Given the description of an element on the screen output the (x, y) to click on. 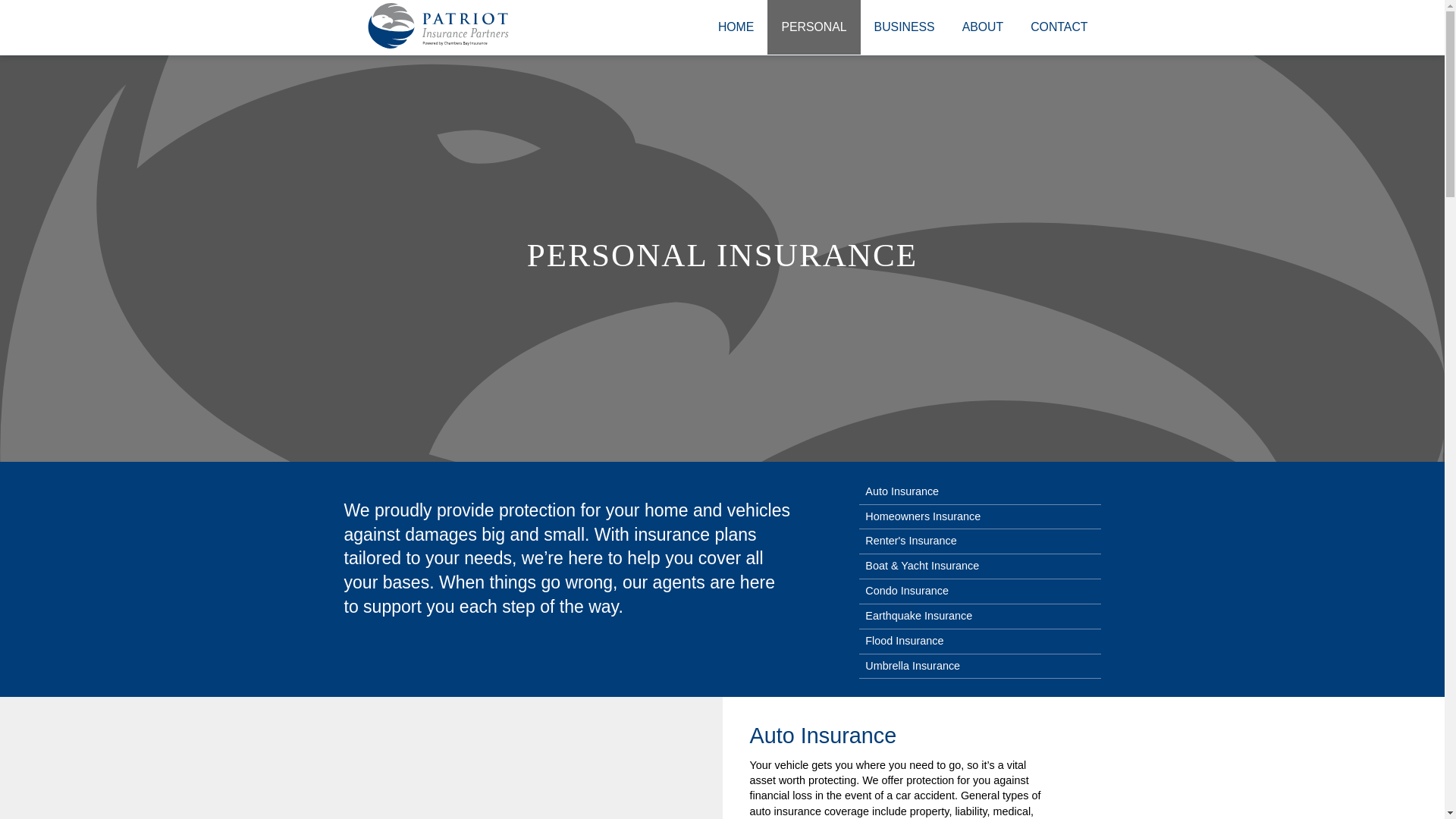
BUSINESS (904, 27)
Flood Insurance (979, 641)
PERSONAL (813, 27)
Renter's Insurance (979, 541)
Earthquake Insurance (979, 616)
Homeowners Insurance (979, 517)
CONTACT (1058, 27)
HOME (736, 27)
Umbrella Insurance (979, 666)
ABOUT (983, 27)
